Given the description of an element on the screen output the (x, y) to click on. 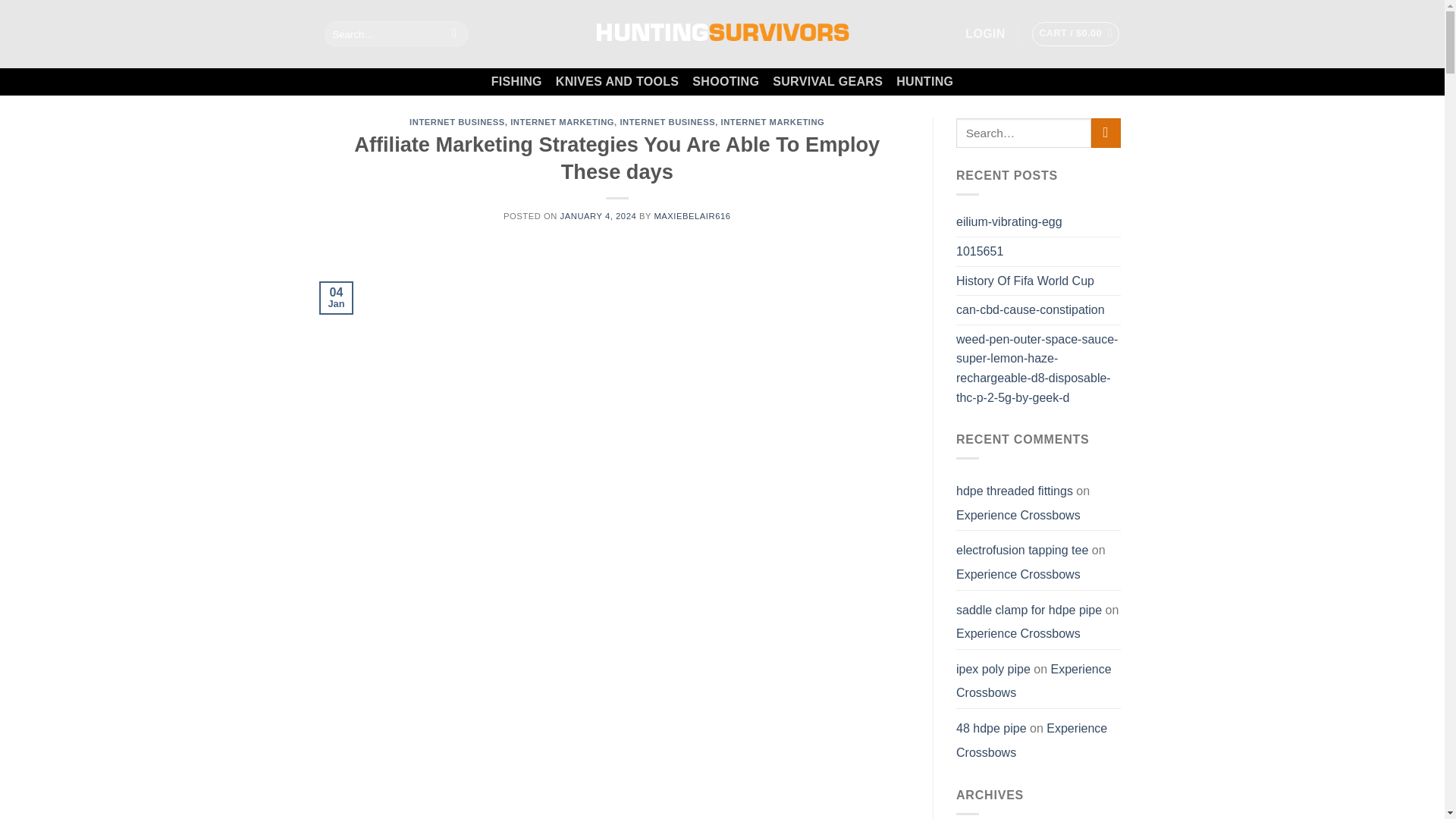
Search (454, 33)
MAXIEBELAIR616 (691, 215)
JANUARY 4, 2024 (598, 215)
Experience Crossbows (1018, 515)
History Of Fifa World Cup (1025, 280)
Hunting Survivors - Gear Up for New Adventure! (721, 33)
1015651 (979, 251)
can-cbd-cause-constipation (1030, 309)
FISHING (516, 81)
INTERNET BUSINESS, INTERNET MARKETING (722, 121)
HUNTING (924, 81)
SURVIVAL GEARS (827, 81)
SHOOTING (725, 81)
